Given the description of an element on the screen output the (x, y) to click on. 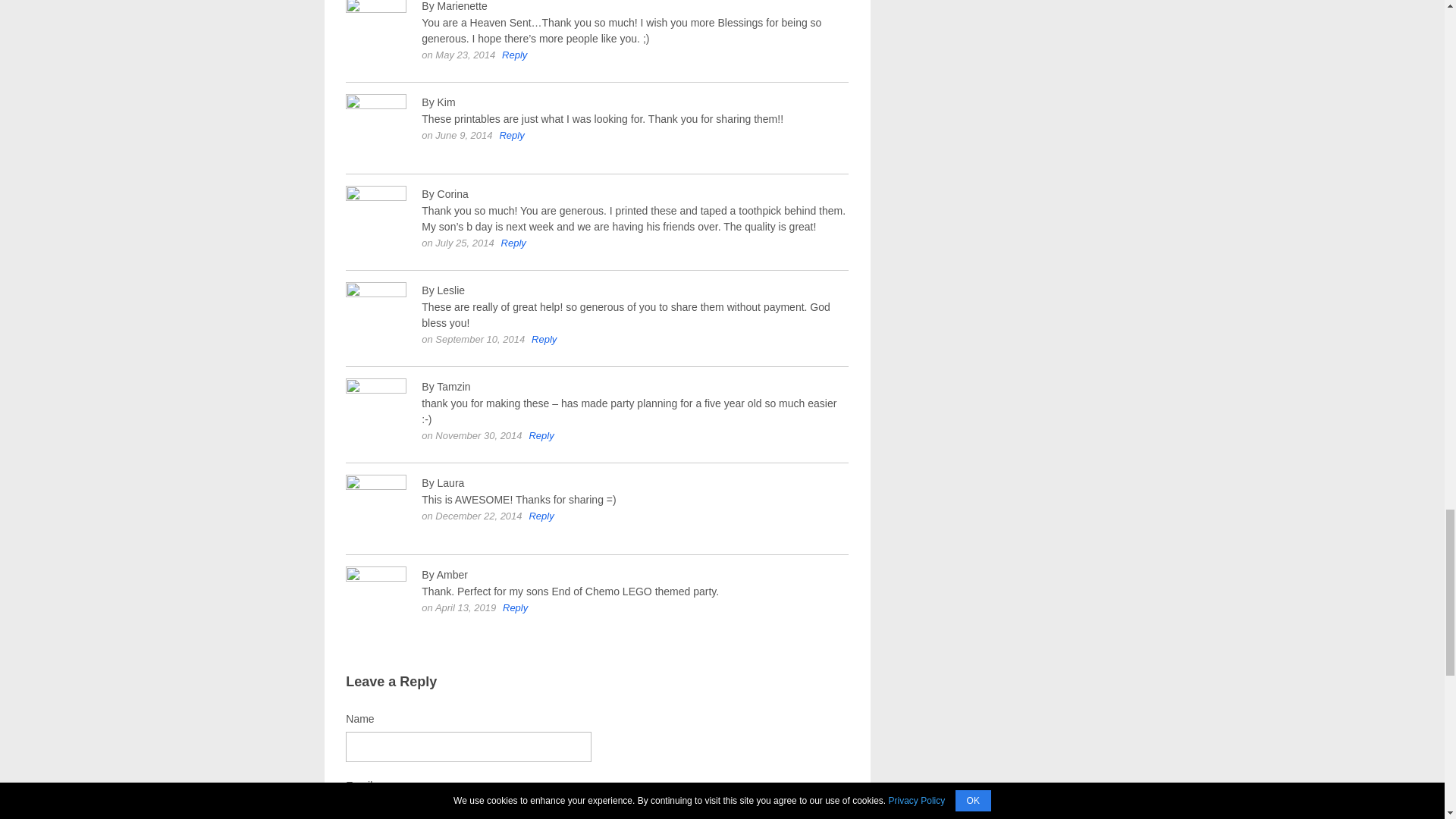
Reply (540, 435)
Reply (514, 54)
Reply (513, 242)
Reply (511, 134)
Reply (543, 338)
Reply (540, 515)
Reply (515, 607)
